Given the description of an element on the screen output the (x, y) to click on. 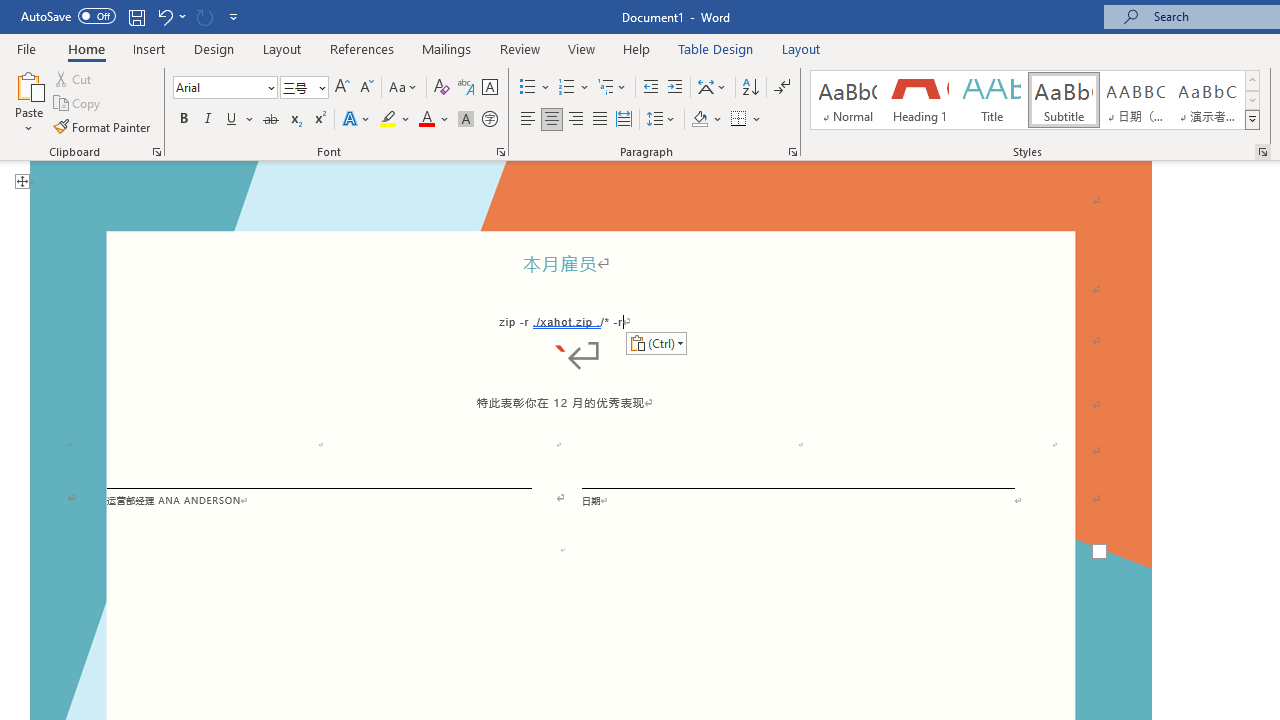
Subtitle (1063, 100)
Can't Repeat (204, 15)
